Given the description of an element on the screen output the (x, y) to click on. 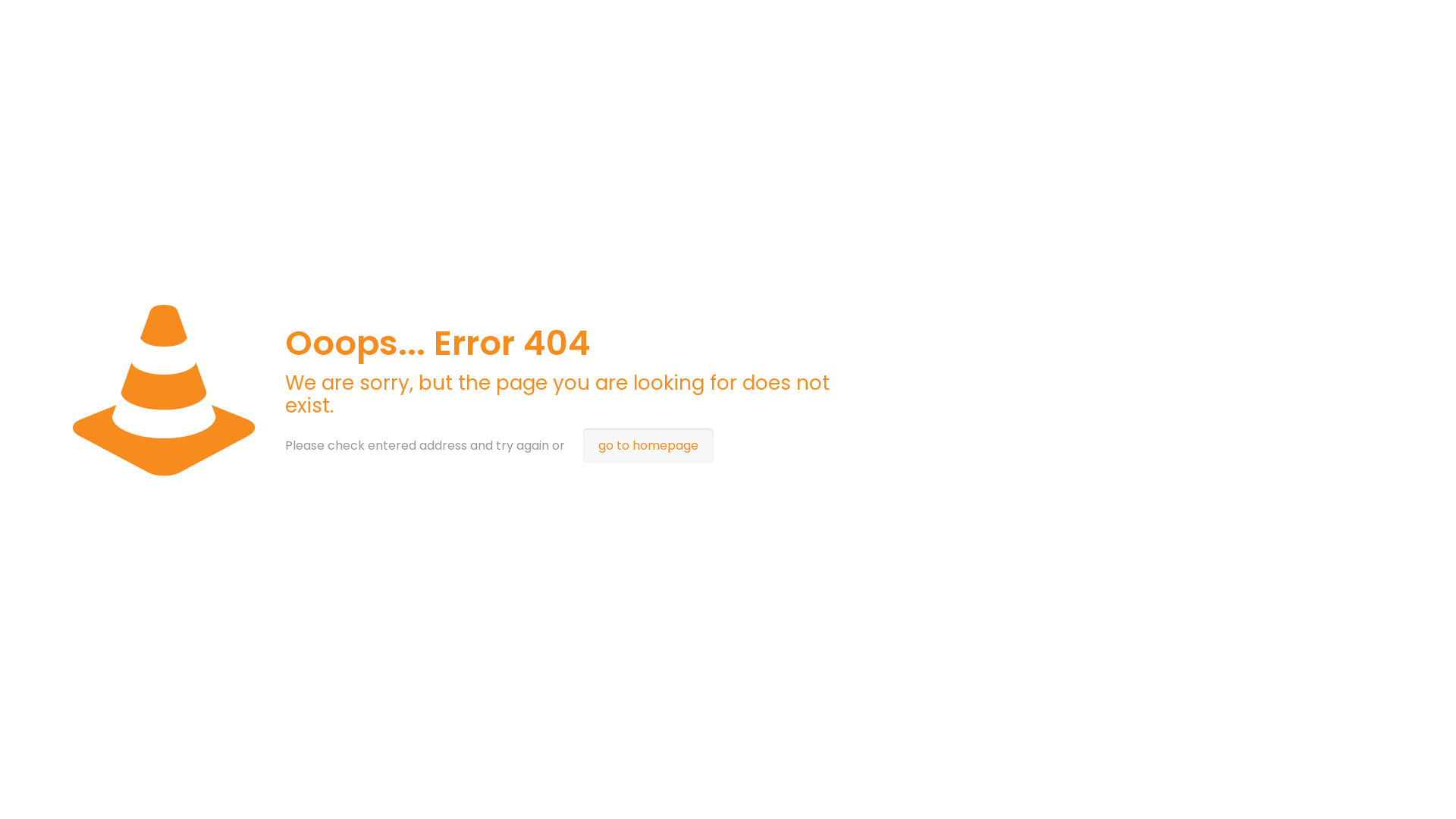
go to homepage Element type: text (648, 445)
